Given the description of an element on the screen output the (x, y) to click on. 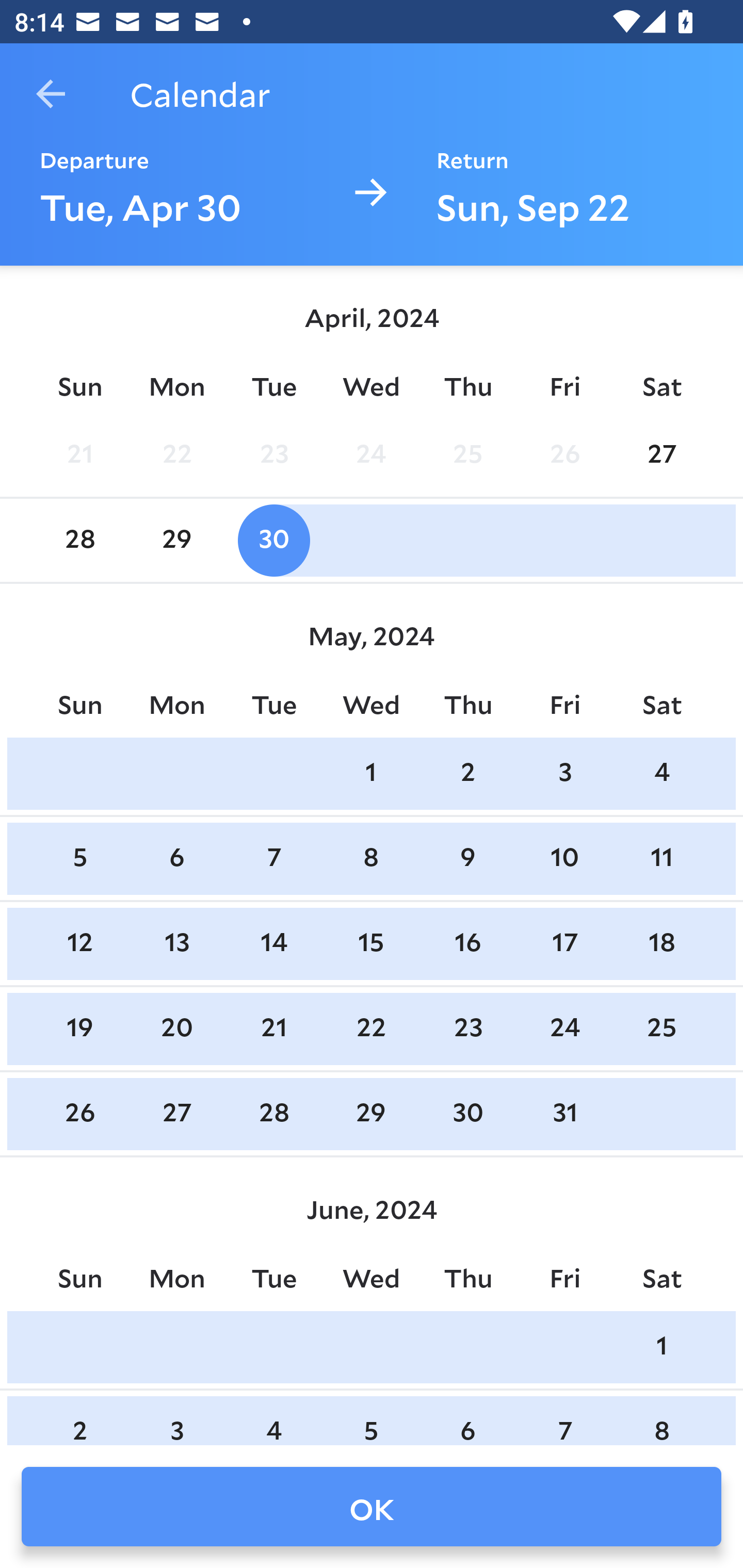
Navigate up (50, 93)
21 (79, 454)
22 (177, 454)
23 (273, 454)
24 (371, 454)
25 (467, 454)
26 (565, 454)
27 (661, 454)
28 (79, 540)
29 (177, 540)
30 (273, 540)
1 (371, 772)
2 (467, 772)
3 (565, 772)
4 (661, 772)
5 (79, 859)
6 (177, 859)
7 (273, 859)
8 (371, 859)
9 (467, 859)
10 (565, 859)
11 (661, 859)
12 (79, 943)
13 (177, 943)
14 (273, 943)
15 (371, 943)
16 (467, 943)
17 (565, 943)
18 (661, 943)
19 (79, 1028)
20 (177, 1028)
21 (273, 1028)
22 (371, 1028)
23 (467, 1028)
24 (565, 1028)
25 (661, 1028)
26 (79, 1114)
27 (177, 1114)
28 (273, 1114)
29 (371, 1114)
30 (467, 1114)
31 (565, 1114)
1 (661, 1346)
2 (79, 1420)
3 (177, 1420)
4 (273, 1420)
5 (371, 1420)
6 (467, 1420)
7 (565, 1420)
8 (661, 1420)
